Given the description of an element on the screen output the (x, y) to click on. 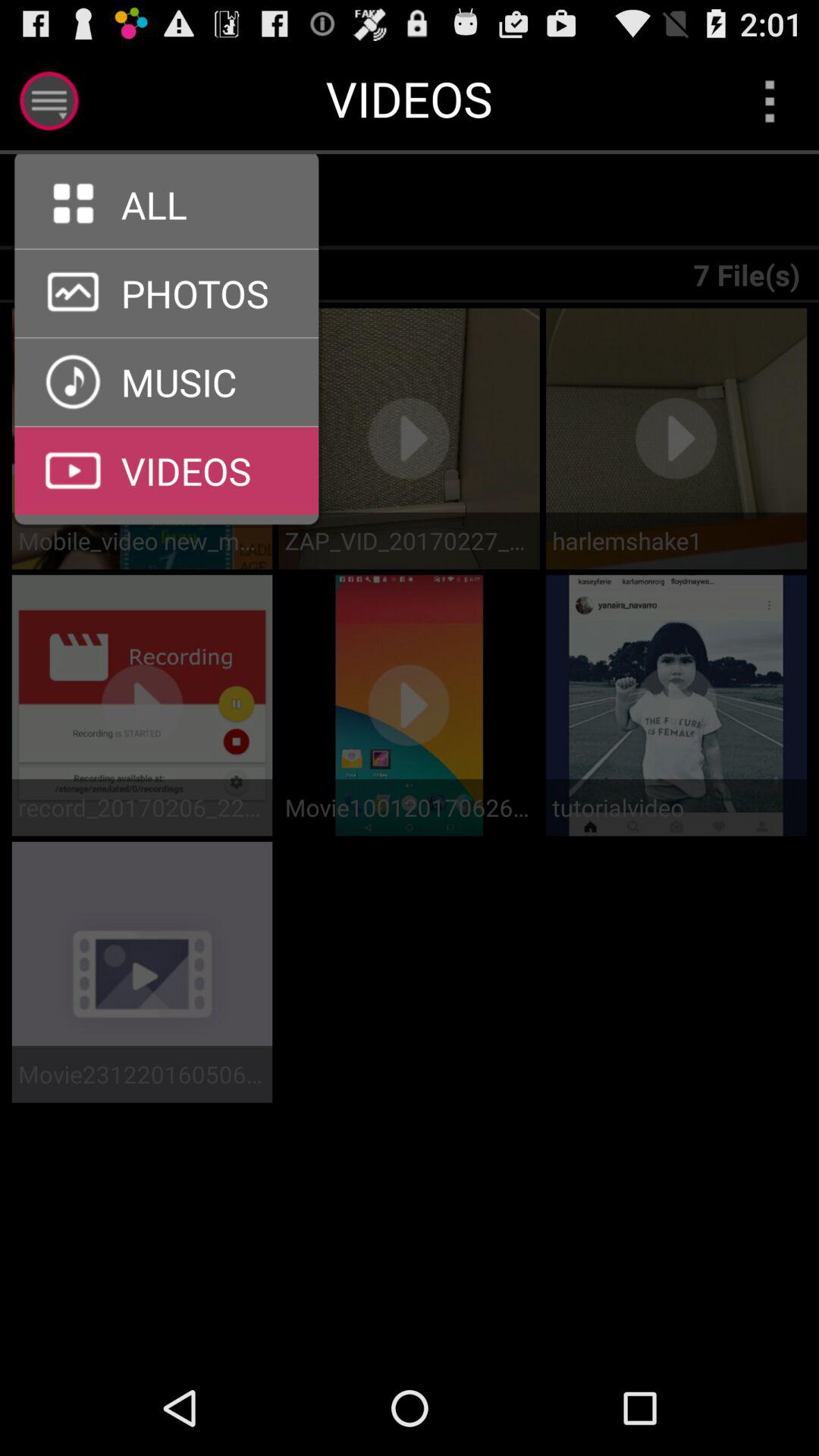
turn on the icon above all devices (65, 201)
